Given the description of an element on the screen output the (x, y) to click on. 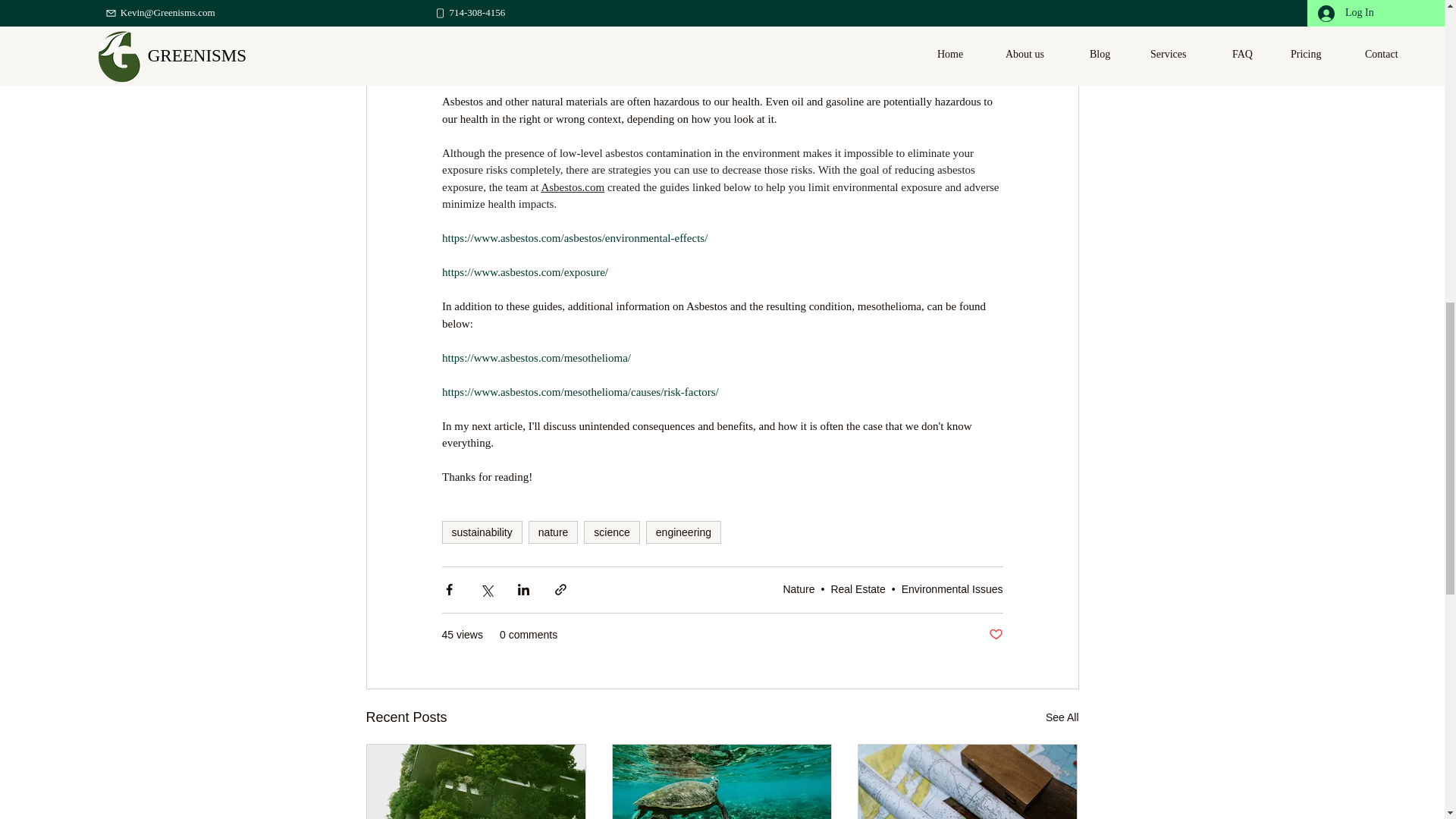
sustainability (481, 531)
Environmental Issues (952, 589)
nature (553, 531)
science (611, 531)
engineering (683, 531)
See All (1061, 717)
Nature (798, 589)
Post not marked as liked (995, 634)
Asbestos.com (572, 186)
Real Estate (857, 589)
